Given the description of an element on the screen output the (x, y) to click on. 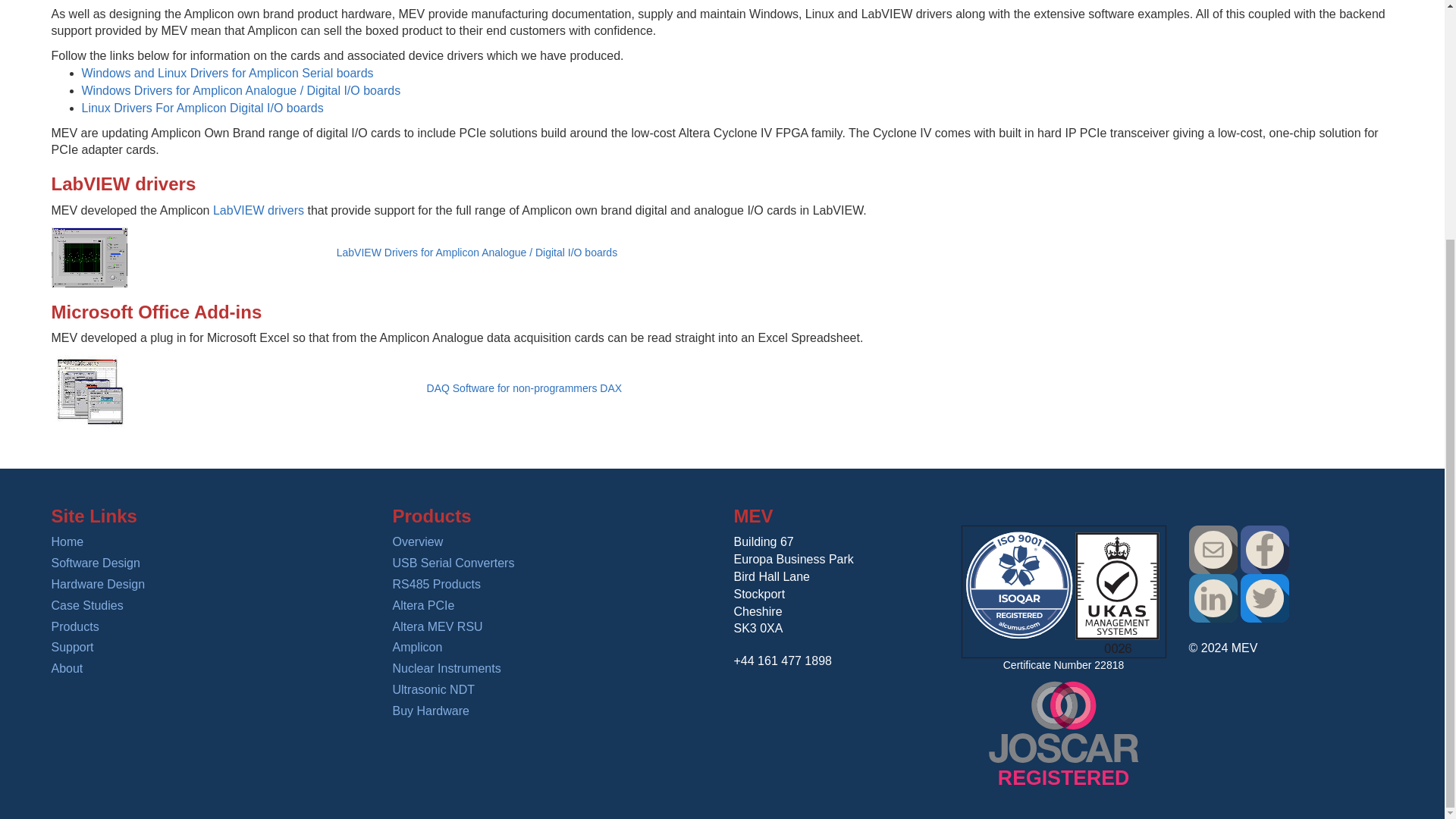
Email us (1213, 549)
Follow us on Facebook (1264, 549)
Follow us on Twitter (1264, 597)
Follow us on LinkedIn (1213, 597)
